Given the description of an element on the screen output the (x, y) to click on. 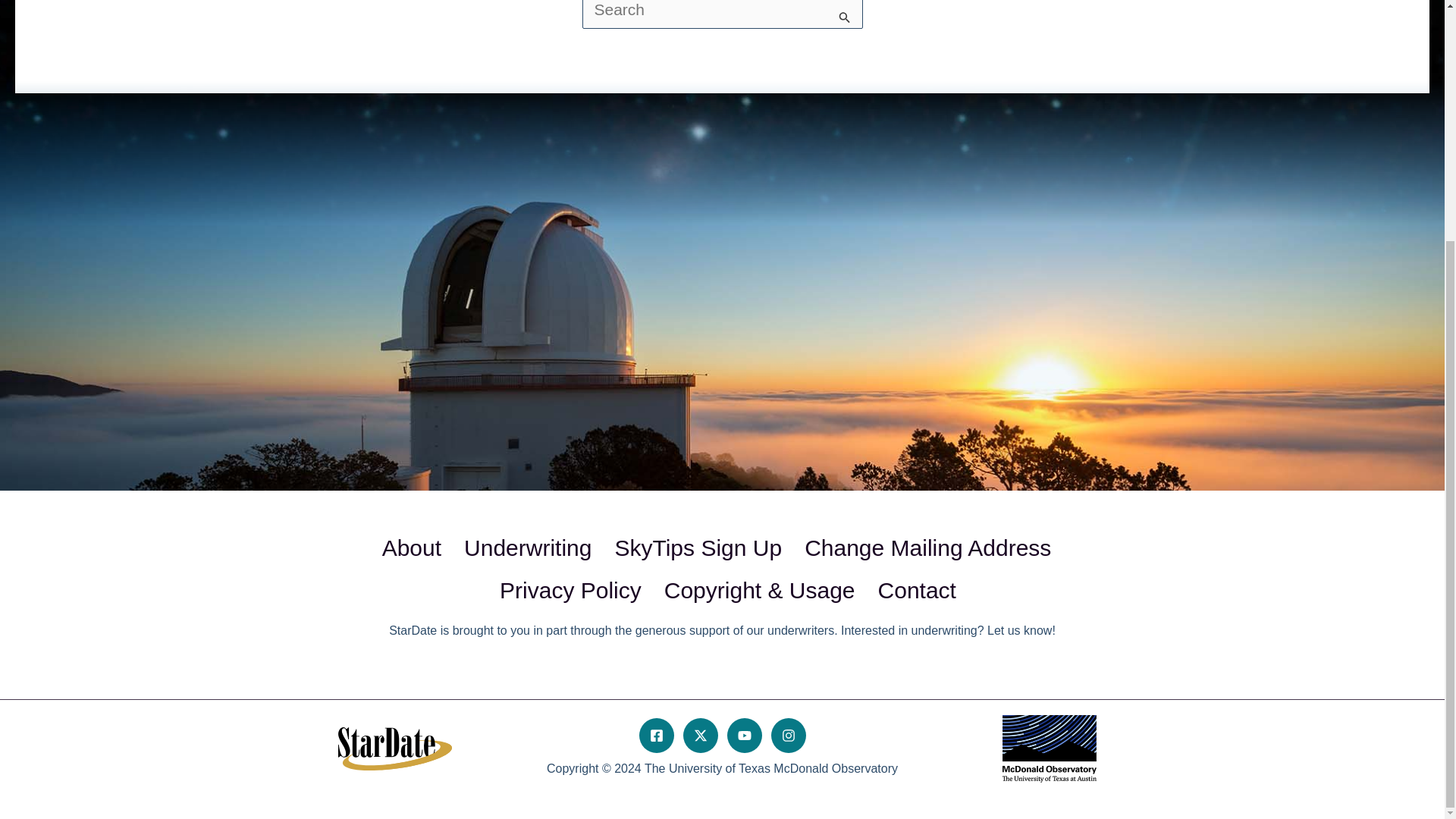
McDonald Observatory logo (1049, 748)
